Given the description of an element on the screen output the (x, y) to click on. 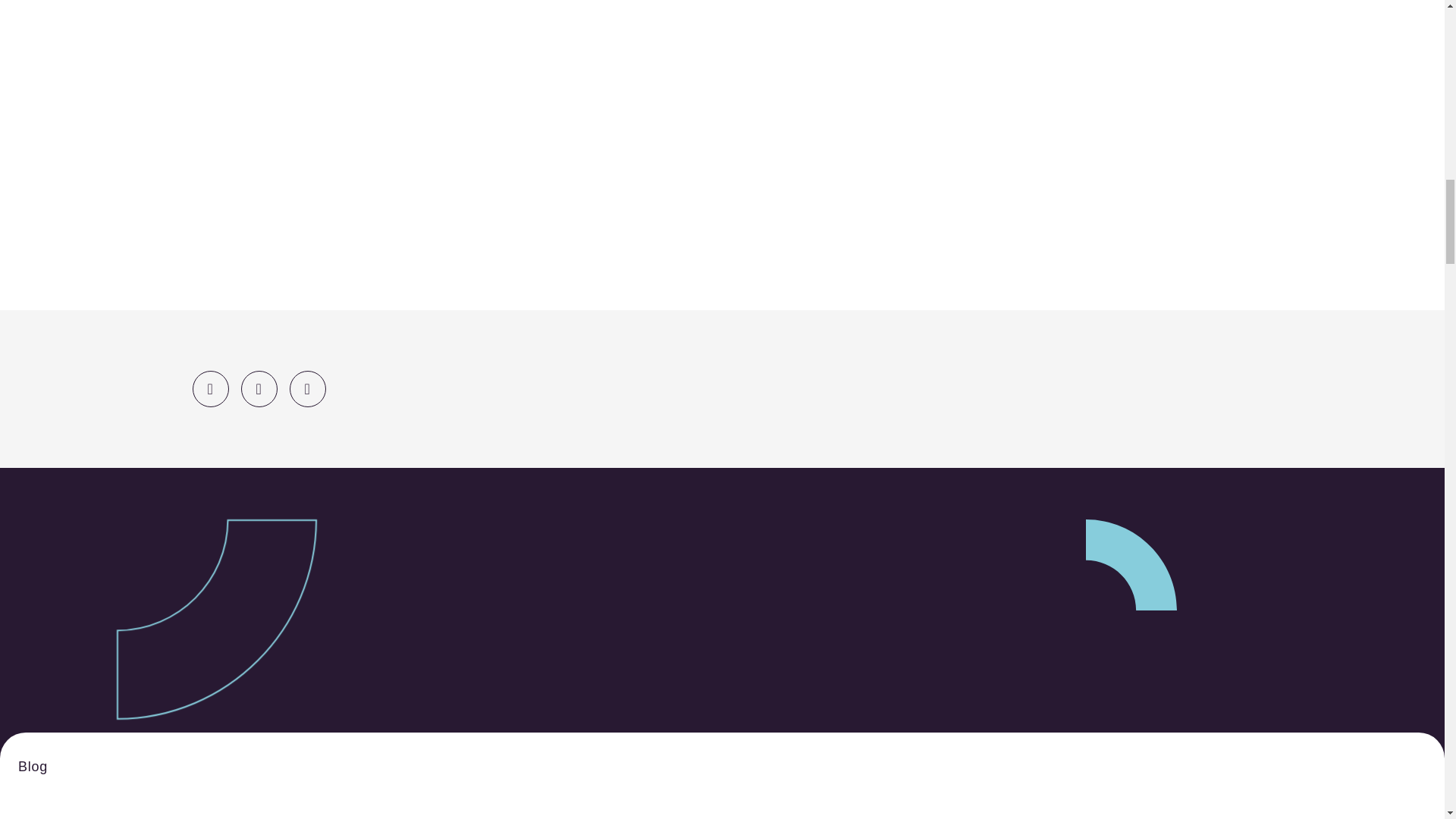
Share this article (259, 389)
Tweet this article (210, 389)
Share this article (307, 389)
